Given the description of an element on the screen output the (x, y) to click on. 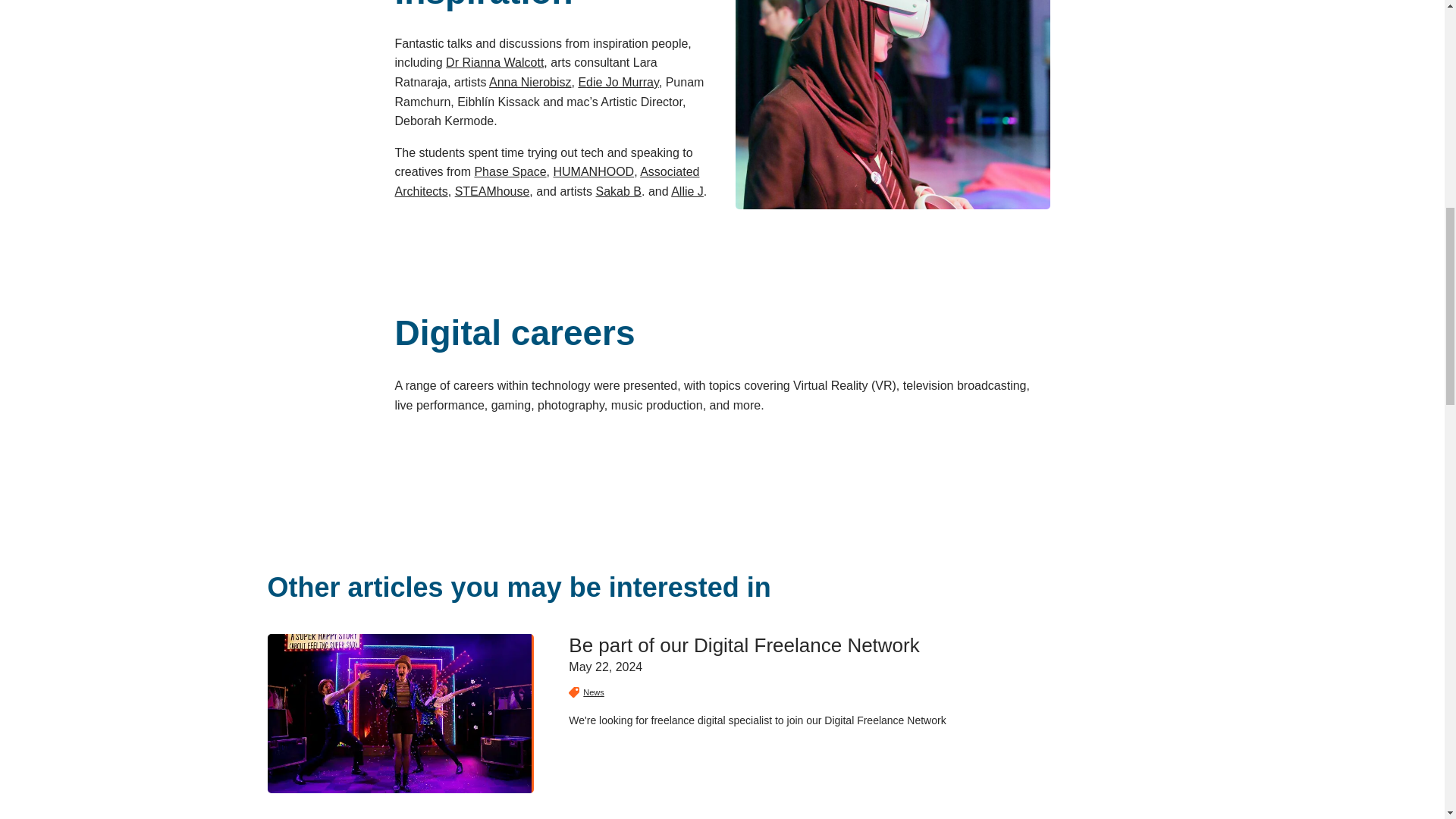
Edie Jo Murray (618, 82)
Dr Rianna Walcott (494, 62)
STEAMhouse (491, 191)
Associated Architects (546, 181)
Anna Nierobisz (530, 82)
HUMANHOOD (593, 171)
Phase Space (510, 171)
